Given the description of an element on the screen output the (x, y) to click on. 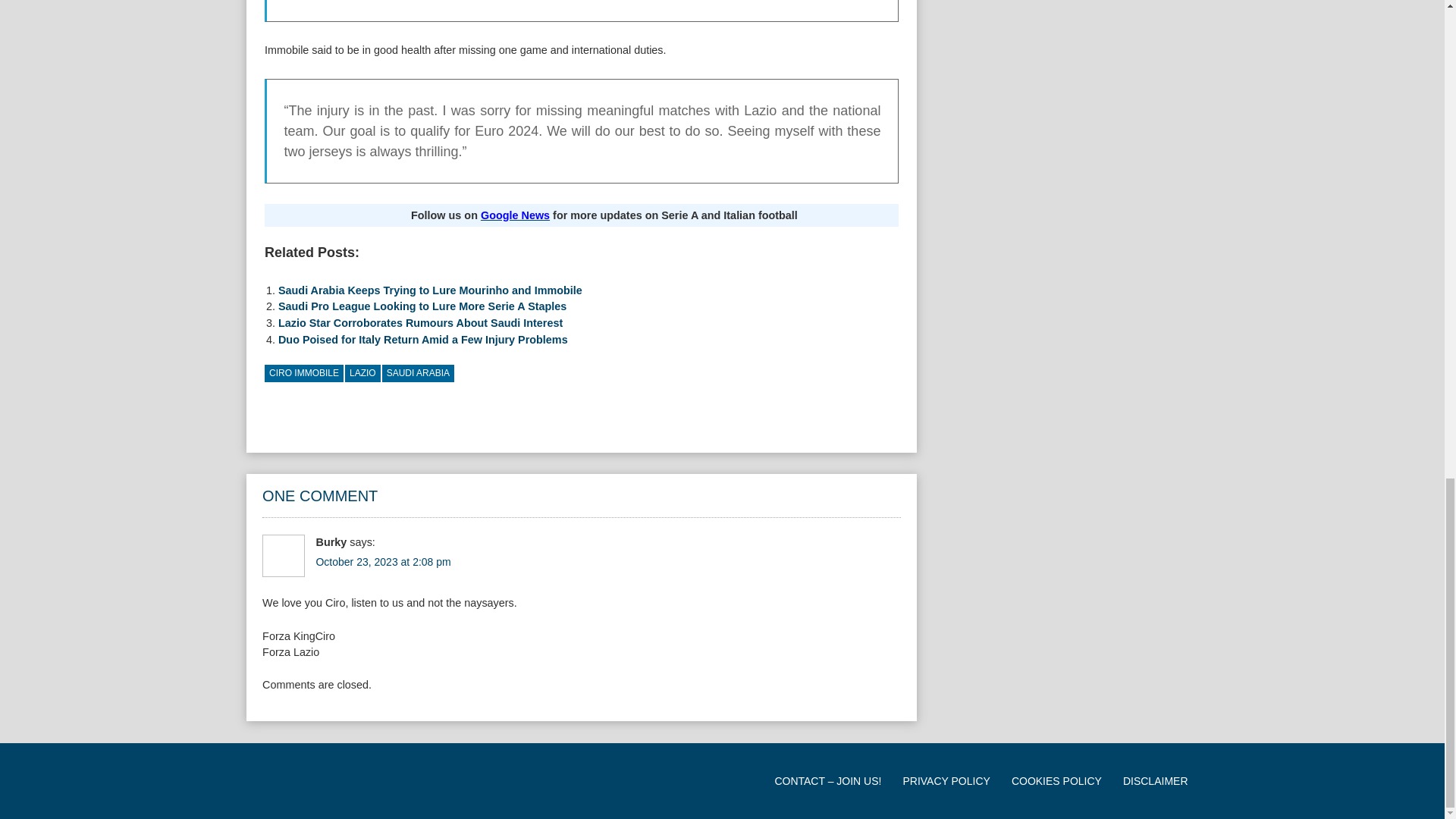
Saudi Pro League Looking to Lure More Serie A Staples (422, 306)
Lazio Star Corroborates Rumours About Saudi Interest (420, 322)
Duo Poised for Italy Return Amid a Few Injury Problems (422, 339)
Saudi Arabia Keeps Trying to Lure Mourinho and Immobile (430, 290)
